Given the description of an element on the screen output the (x, y) to click on. 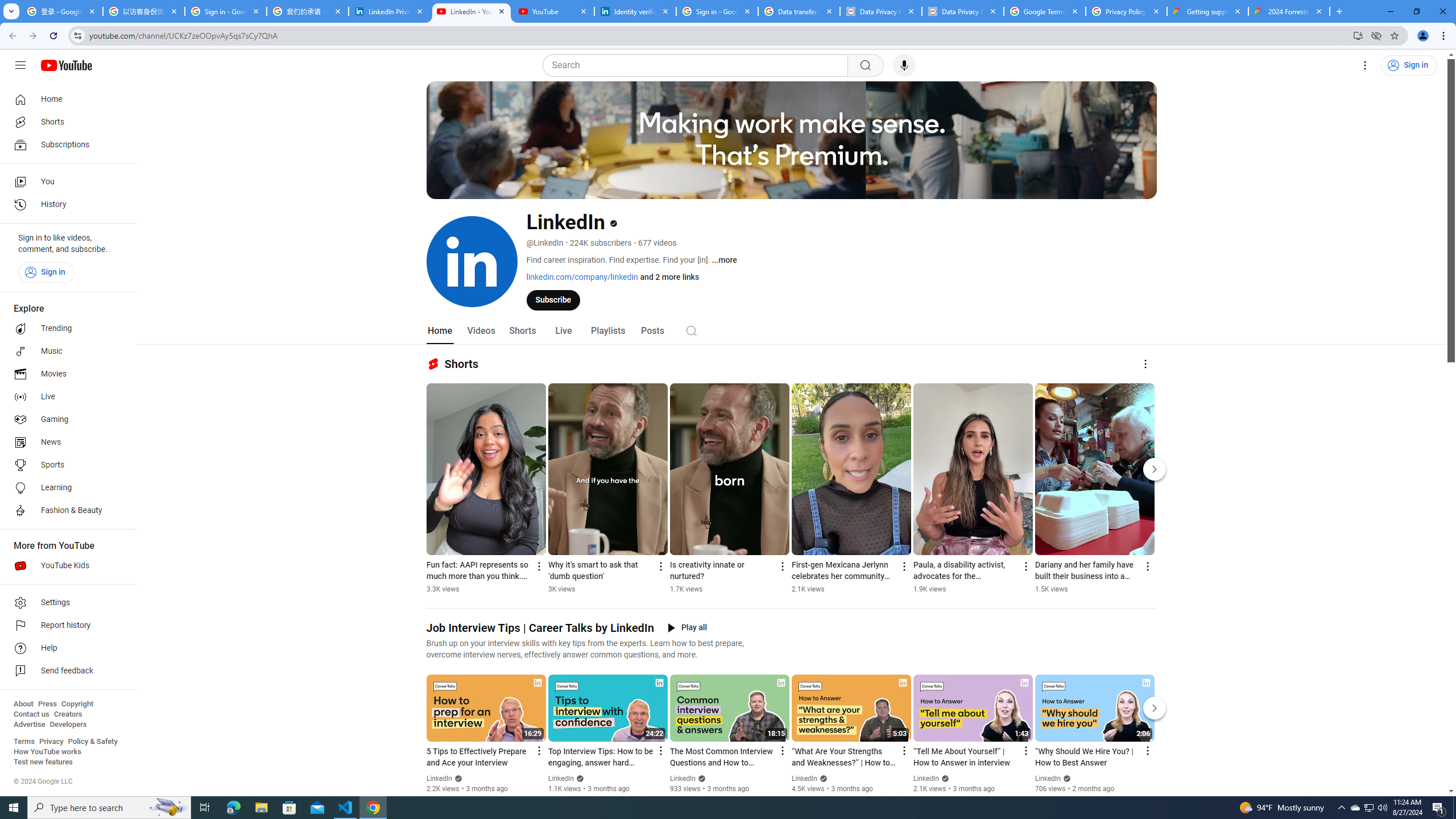
LinkedIn Privacy Policy (389, 11)
Learning (64, 487)
Movies (64, 373)
LinkedIn - YouTube (470, 11)
Next (1154, 707)
Data Privacy Framework (880, 11)
YouTube Kids (64, 565)
Back (10, 35)
Trending (64, 328)
Search with your voice (903, 65)
Settings (1365, 65)
New Tab (1338, 11)
